Given the description of an element on the screen output the (x, y) to click on. 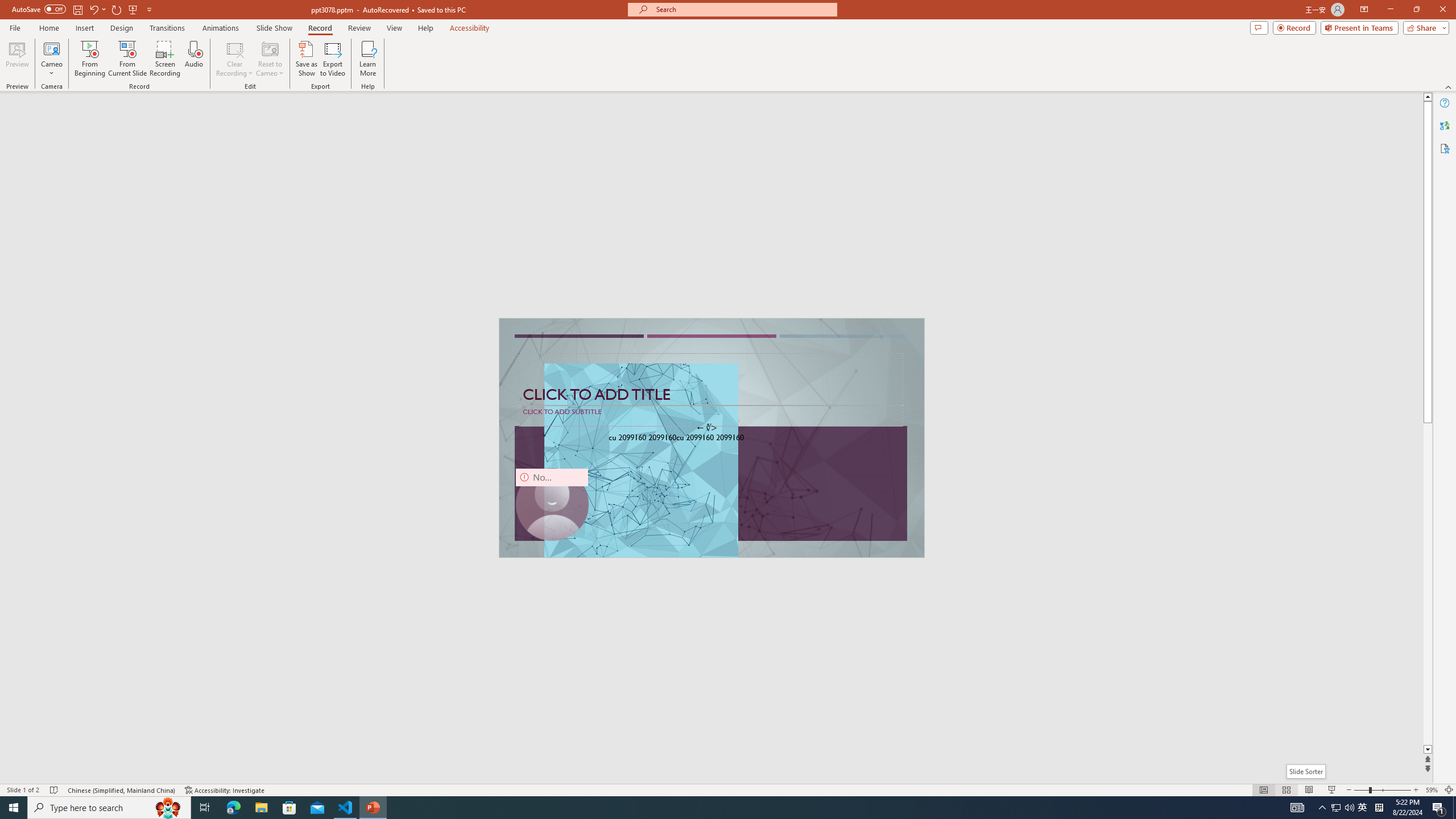
Tab actions (537, 183)
test.ipynb (491, 183)
Explorer (Ctrl+Shift+E) (76, 221)
Microsoft Cashback (964, 123)
